Given the description of an element on the screen output the (x, y) to click on. 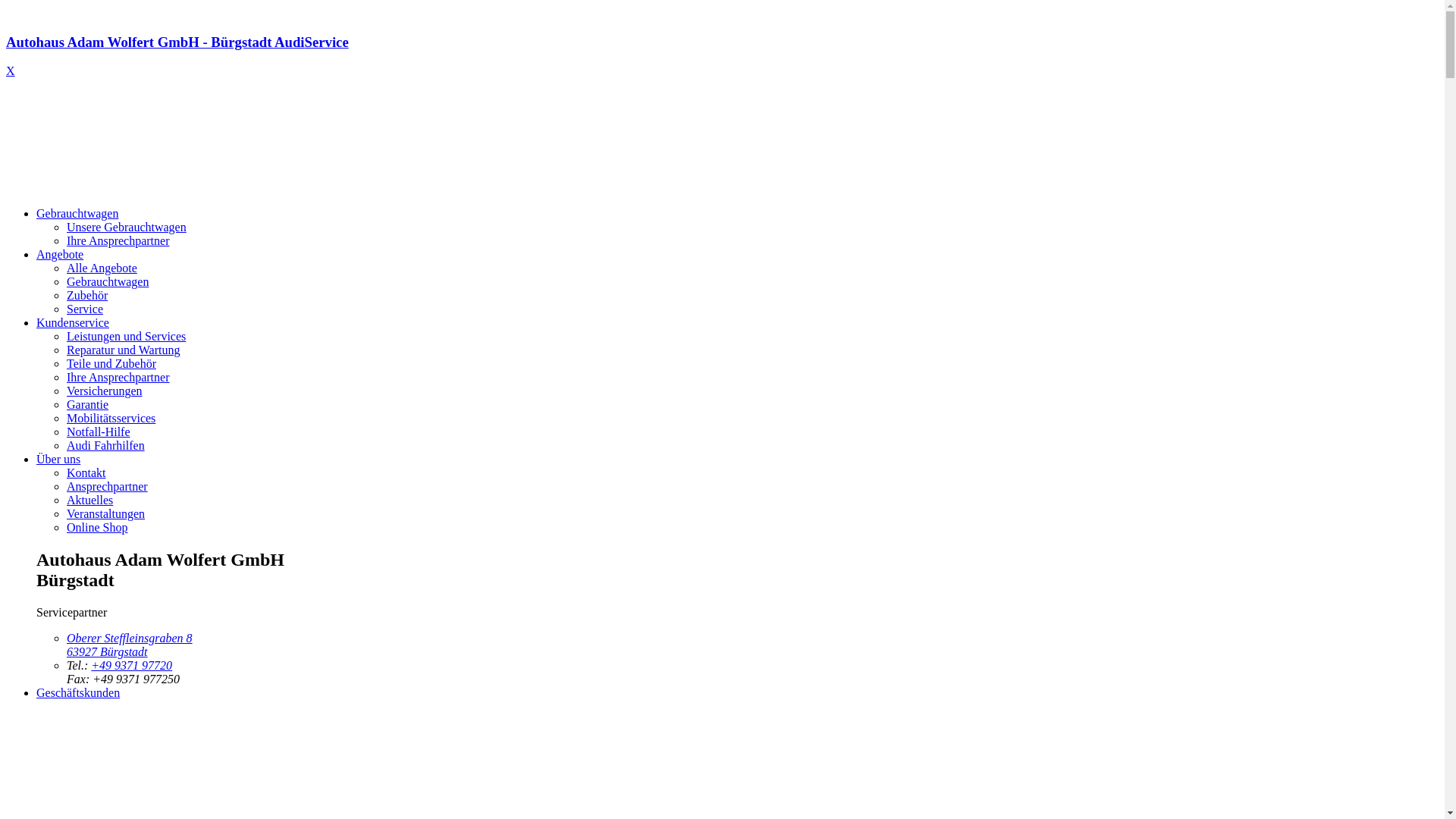
X Element type: text (10, 70)
Kontakt Element type: text (86, 472)
Garantie Element type: text (87, 404)
Online Shop Element type: text (96, 526)
Leistungen und Services Element type: text (125, 335)
Aktuelles Element type: text (89, 499)
Notfall-Hilfe Element type: text (98, 431)
Audi Fahrhilfen Element type: text (105, 445)
Versicherungen Element type: text (104, 390)
Service Element type: text (84, 308)
Ansprechpartner Element type: text (106, 486)
Angebote Element type: text (59, 253)
Ihre Ansprechpartner Element type: text (117, 376)
Gebrauchtwagen Element type: text (107, 281)
Kundenservice Element type: text (72, 322)
Alle Angebote Element type: text (101, 267)
Veranstaltungen Element type: text (105, 513)
Unsere Gebrauchtwagen Element type: text (126, 226)
Reparatur und Wartung Element type: text (122, 349)
+49 9371 97720 Element type: text (131, 664)
Gebrauchtwagen Element type: text (77, 213)
Ihre Ansprechpartner Element type: text (117, 240)
